Given the description of an element on the screen output the (x, y) to click on. 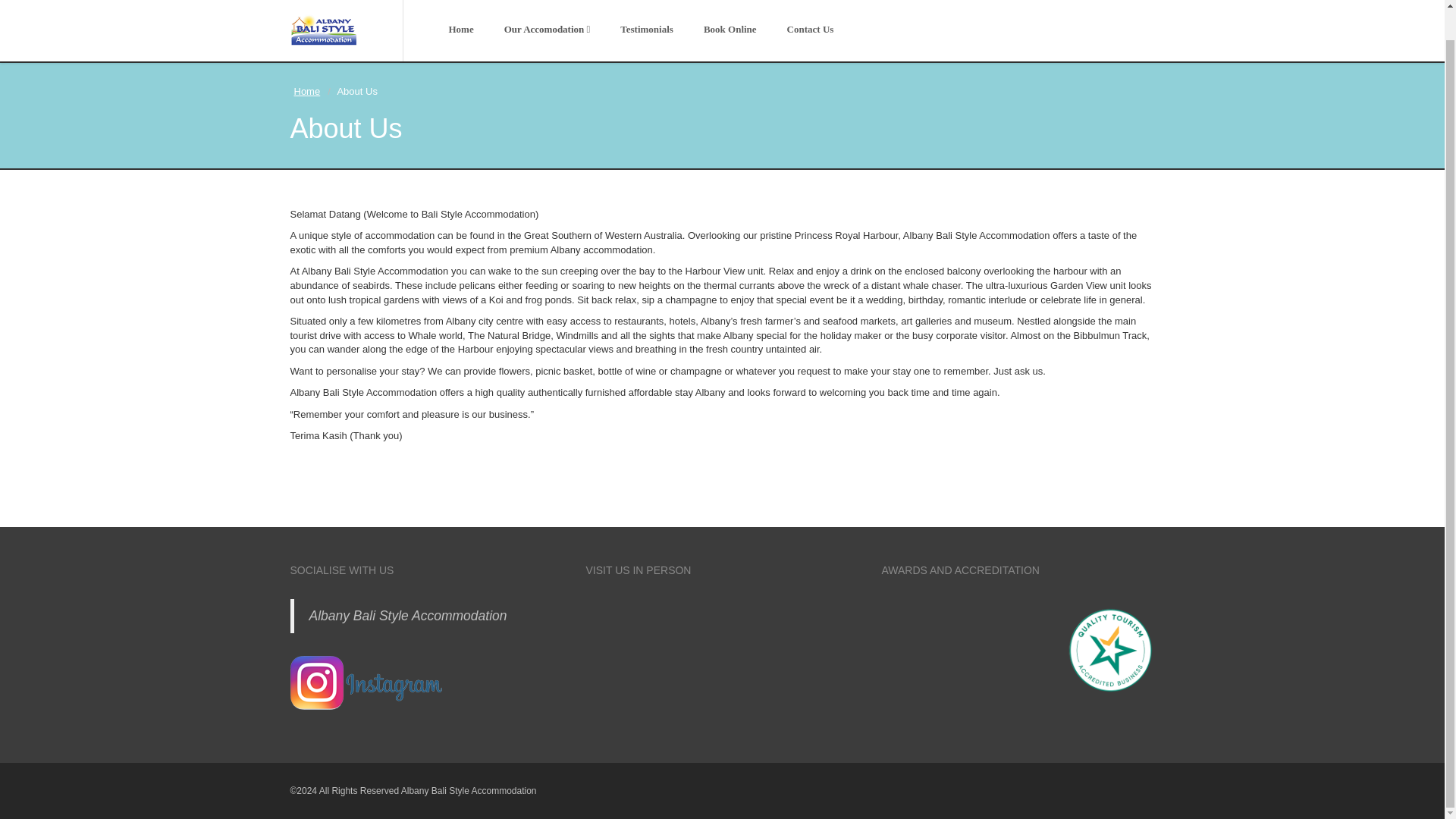
Home (461, 30)
Contact Us (809, 30)
Our Accomodation (547, 30)
Albany Bali Style Accommodation (407, 615)
Book Online (729, 30)
Testimonials (646, 30)
Home (306, 91)
